Given the description of an element on the screen output the (x, y) to click on. 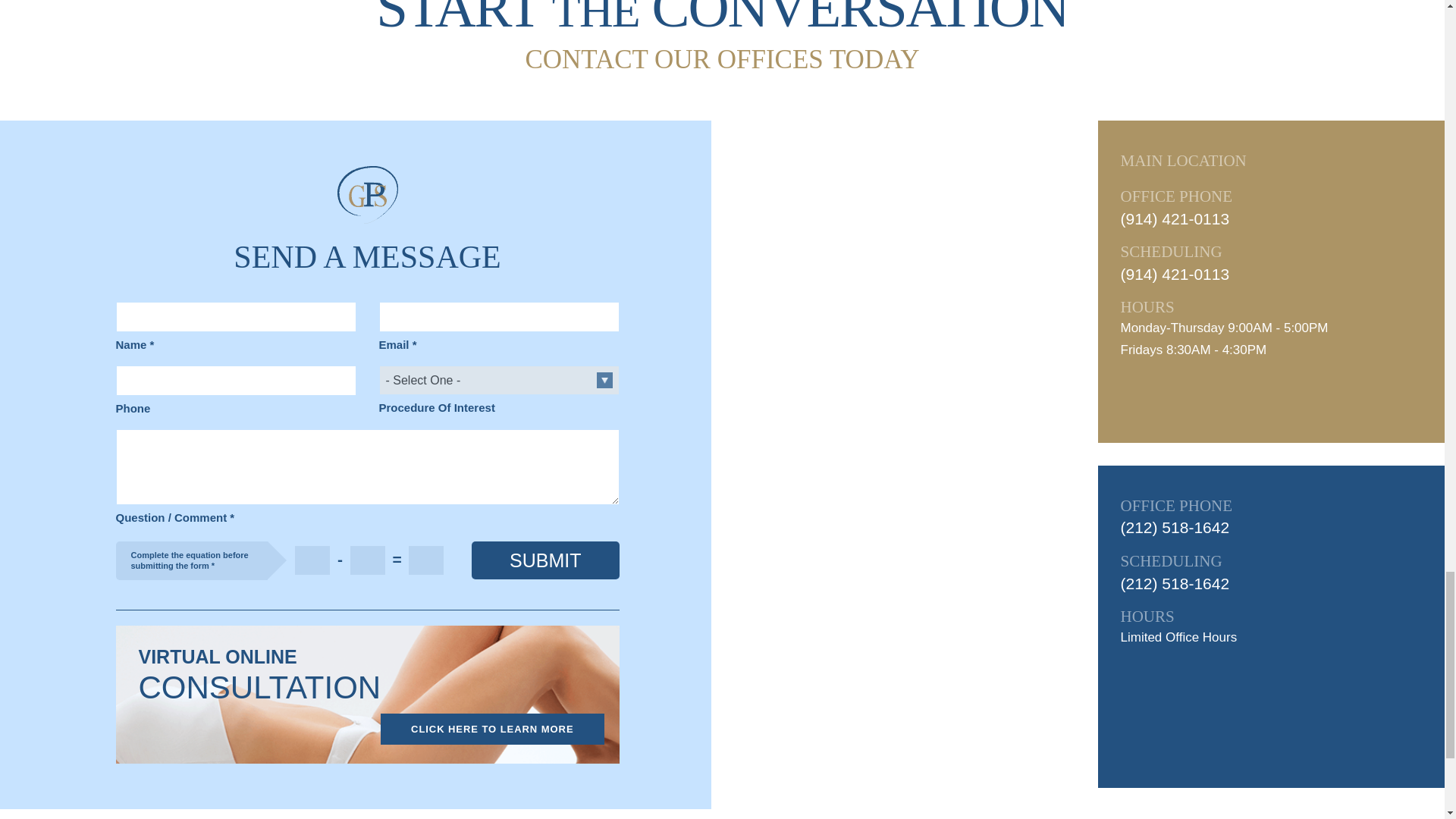
Submit (544, 560)
Greenwald Plastic Surgery (366, 193)
